Given the description of an element on the screen output the (x, y) to click on. 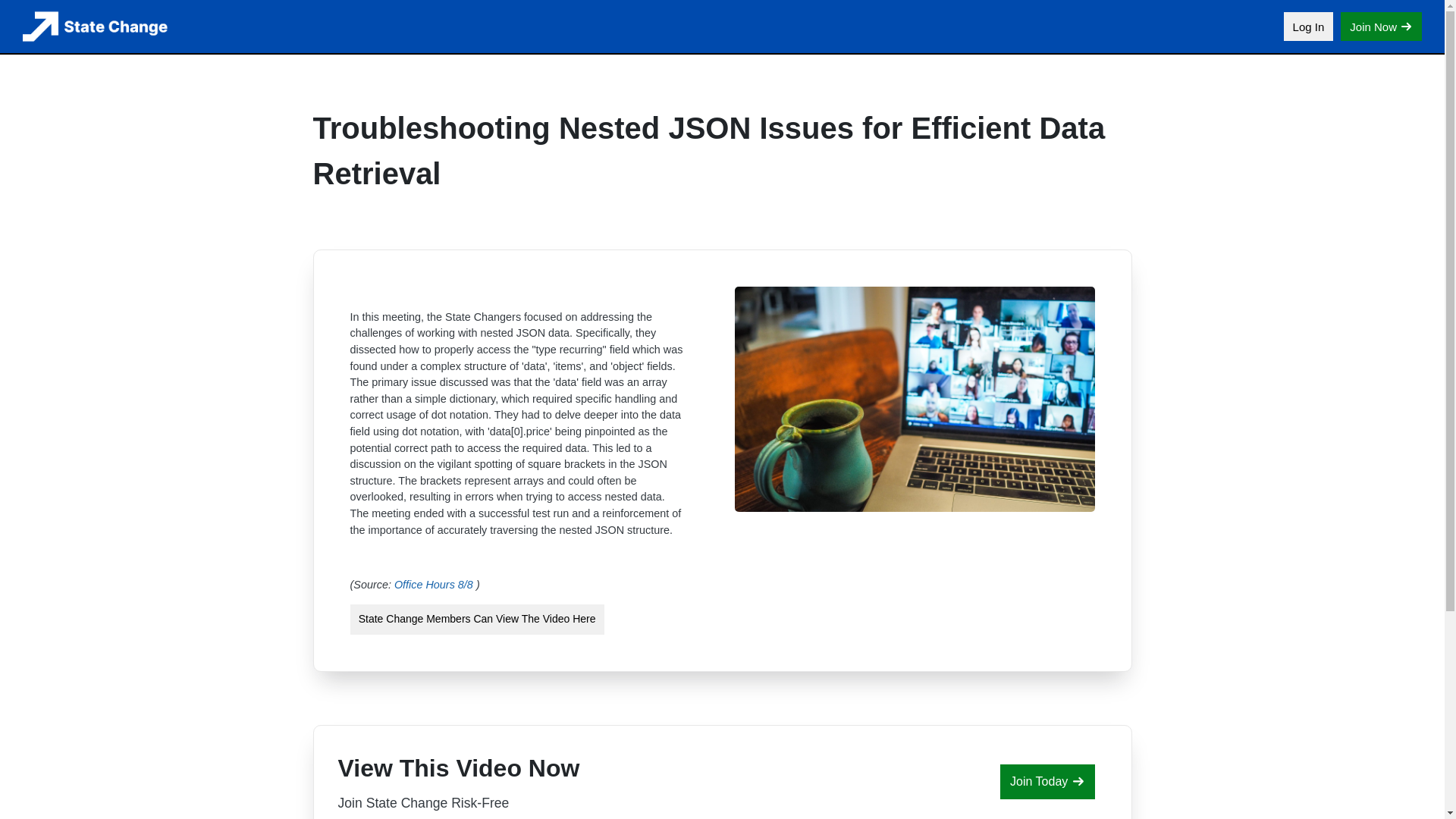
Join Now (1381, 26)
Log In (1308, 26)
State Change Members Can View The Video Here (477, 619)
Join Today (1047, 781)
